Given the description of an element on the screen output the (x, y) to click on. 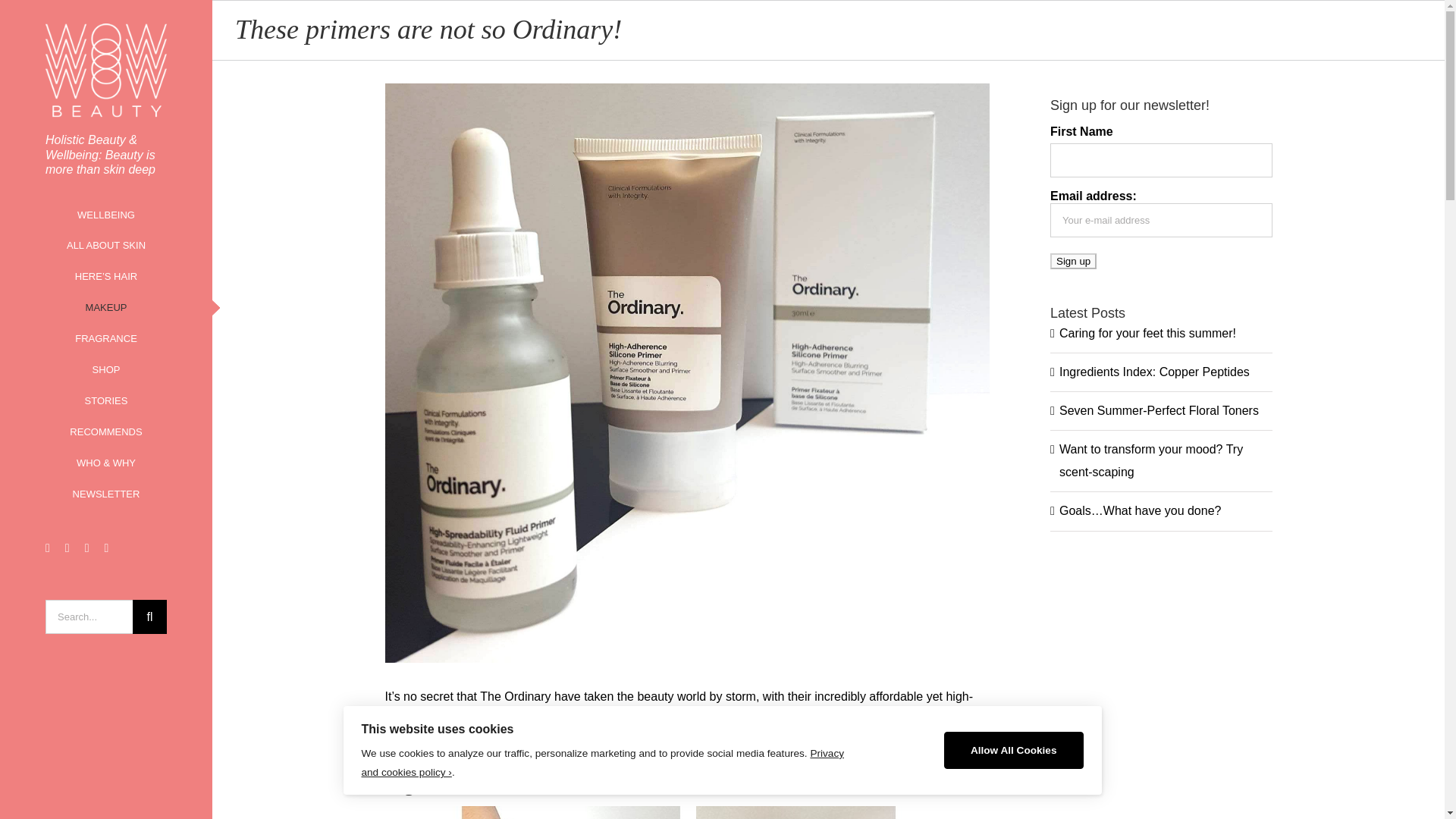
SHOP (106, 369)
FRAGRANCE (106, 338)
Sign up (1072, 261)
RECOMMENDS (106, 431)
MAKEUP (106, 307)
STORIES (106, 400)
NEWSLETTER (106, 494)
ALL ABOUT SKIN (106, 245)
WELLBEING (106, 214)
